Given the description of an element on the screen output the (x, y) to click on. 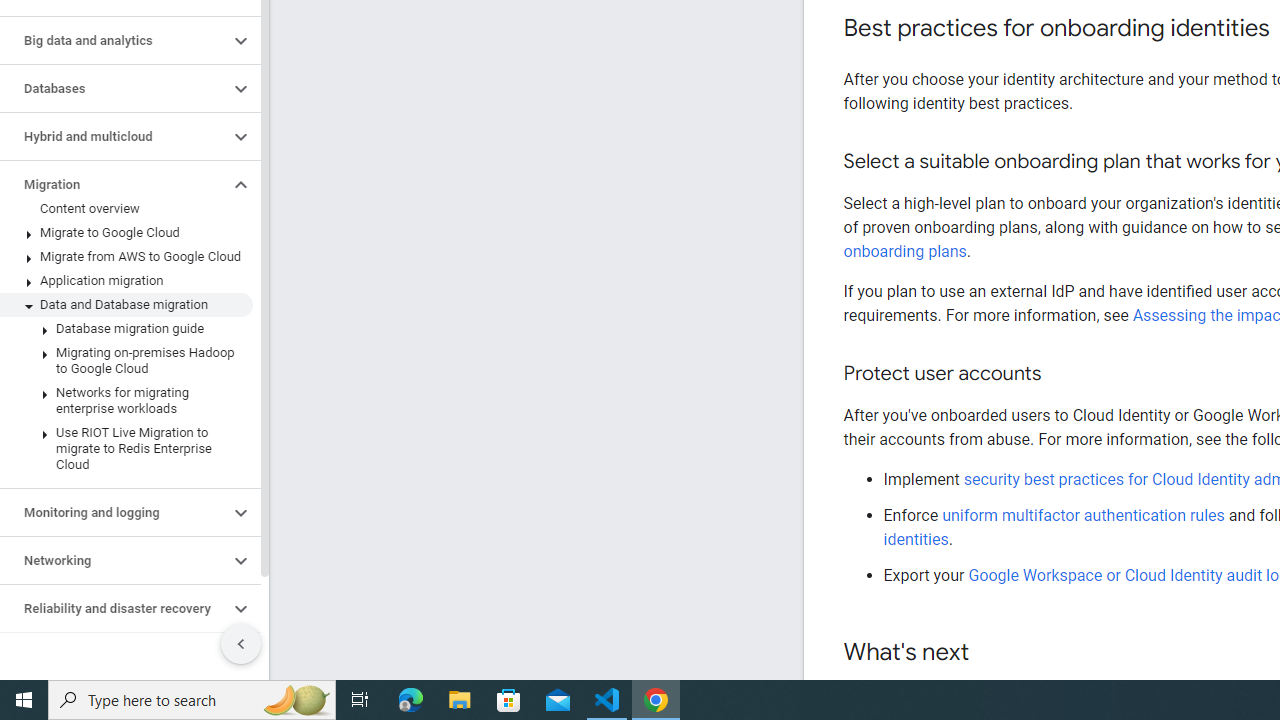
Networking (114, 560)
Application migration (126, 281)
uniform multifactor authentication rules  (1085, 515)
Networks for migrating enterprise workloads (126, 400)
Migrate to Google Cloud (126, 232)
Big data and analytics (114, 40)
Security and IAM (114, 656)
Databases (114, 88)
Database migration guide (126, 328)
Data and Database migration (126, 304)
Copy link to this section: Protect user accounts (1060, 374)
Copy link to this section: What's next (988, 653)
Hide side navigation (241, 643)
Migration (114, 184)
Migrating on-premises Hadoop to Google Cloud (126, 360)
